Given the description of an element on the screen output the (x, y) to click on. 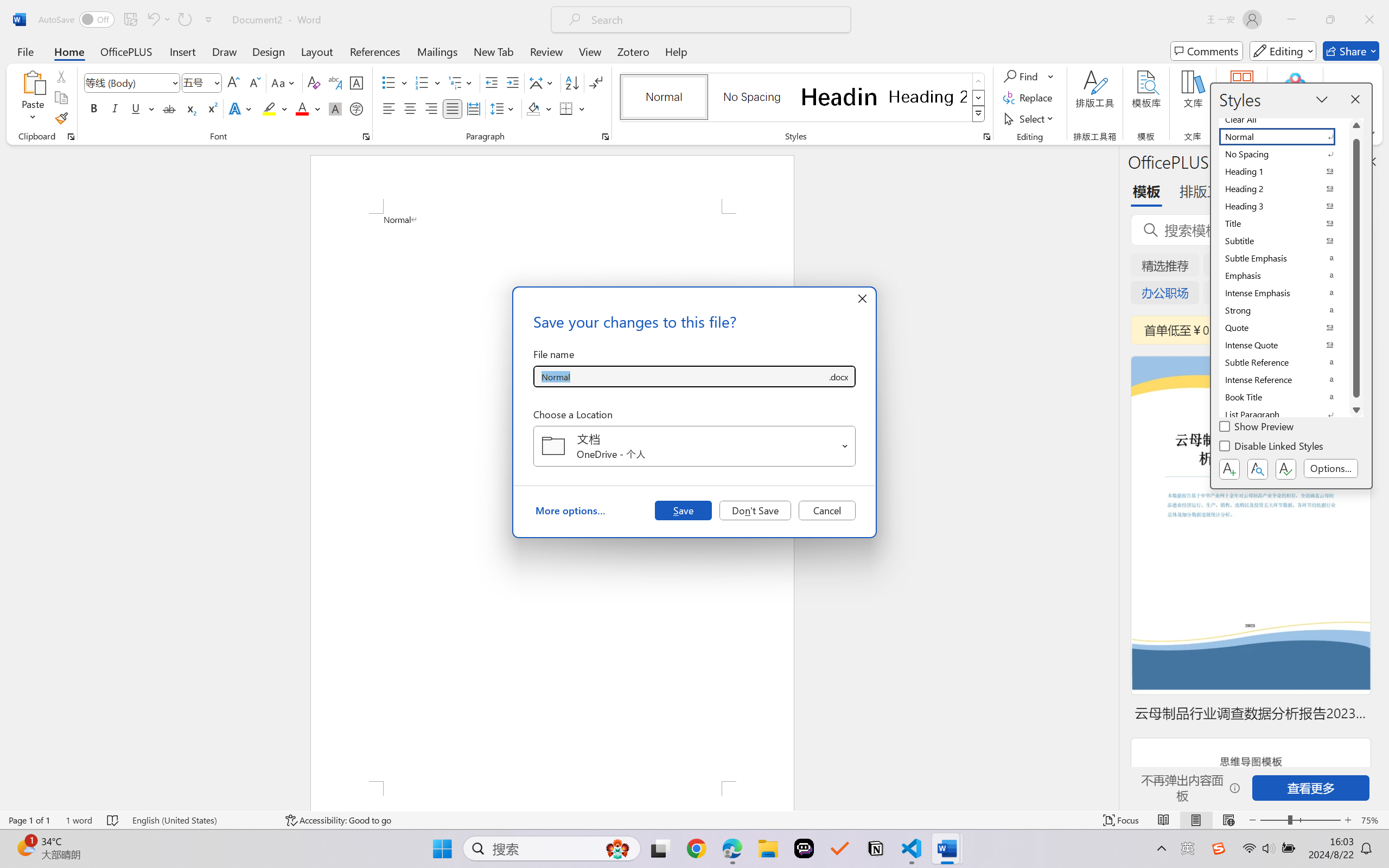
Zotero (632, 51)
AutomationID: QuickStylesGallery (802, 97)
Strong (1283, 310)
Replace... (1029, 97)
Distributed (473, 108)
Styles (978, 113)
Character Border (356, 82)
More Options (1051, 75)
Clear Formatting (313, 82)
Class: NetUIButton (1285, 469)
Ribbon Display Options (1370, 132)
Row up (978, 81)
